Given the description of an element on the screen output the (x, y) to click on. 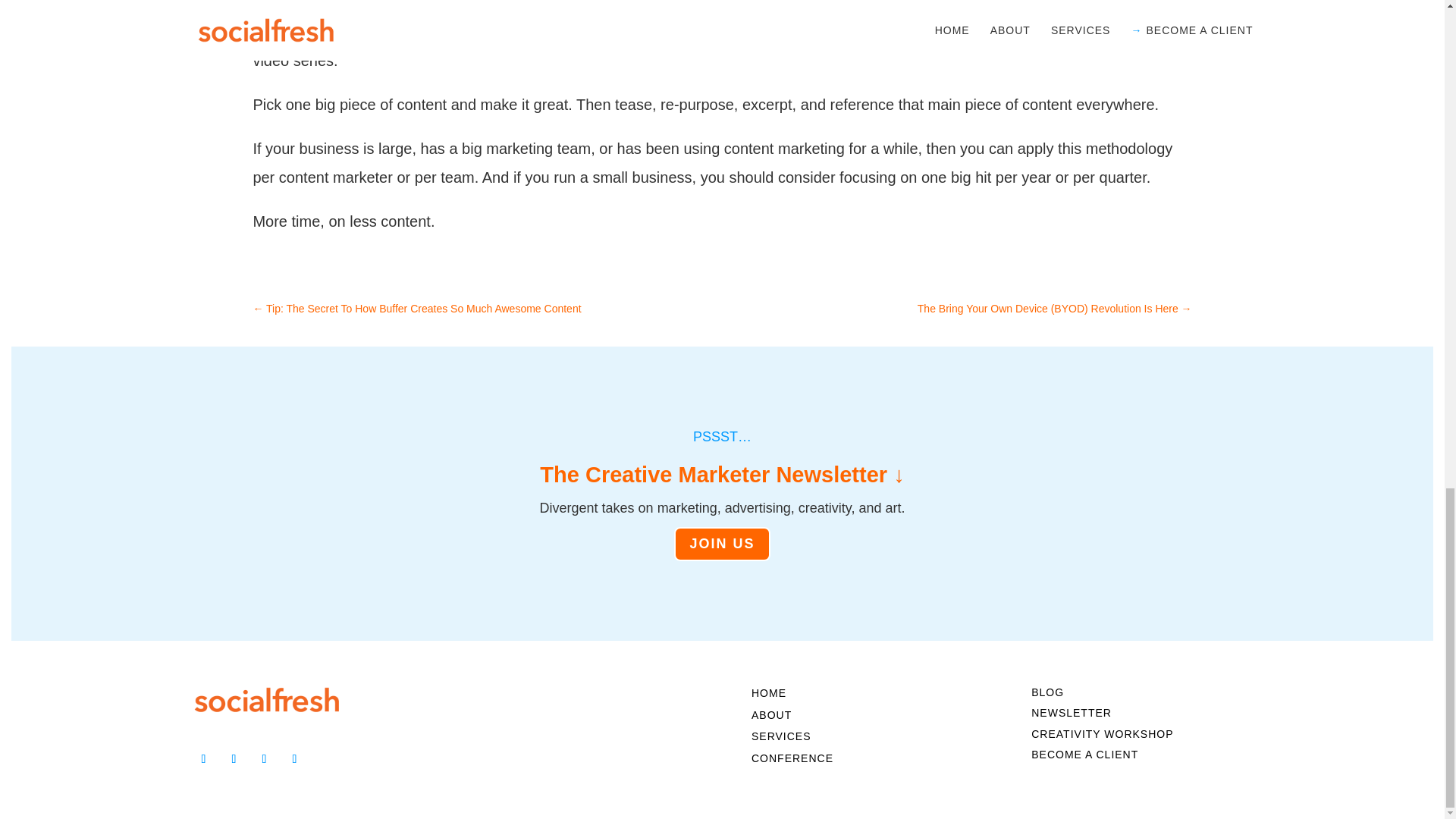
CONFERENCE (791, 761)
Social Fresh logo (266, 699)
BECOME A CLIENT (1084, 757)
JOIN US (722, 544)
Follow on Instagram (263, 758)
BLOG (1047, 695)
SERVICES (780, 739)
NEWSLETTER (1071, 716)
ABOUT (771, 718)
Follow on TikTok (293, 758)
Follow on LinkedIn (202, 758)
Follow on Facebook (233, 758)
HOME (768, 696)
CREATIVITY WORKSHOP (1101, 737)
